Given the description of an element on the screen output the (x, y) to click on. 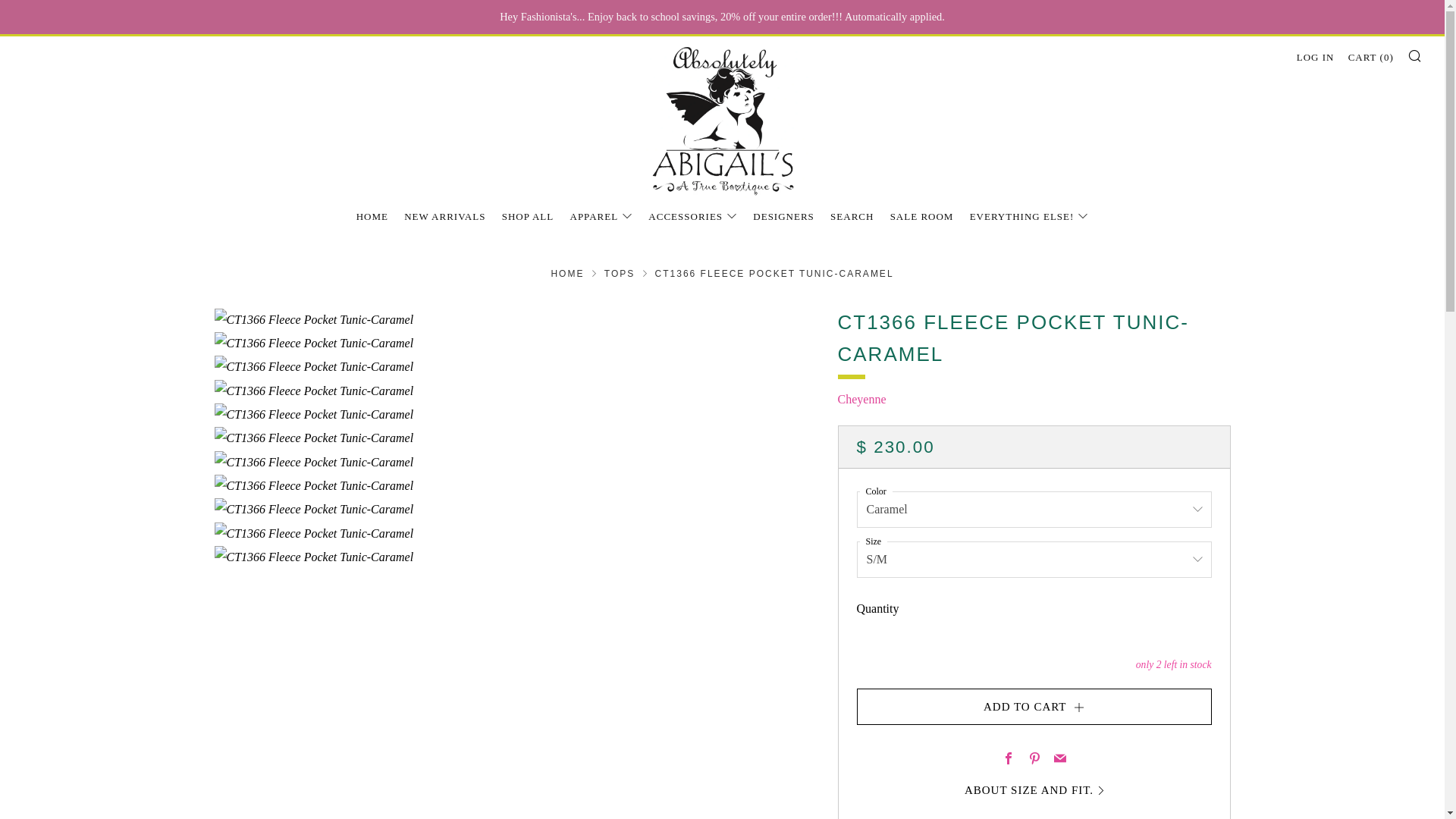
HOME (372, 216)
Refund Policy (959, 798)
NEW ARRIVALS (444, 216)
